Given the description of an element on the screen output the (x, y) to click on. 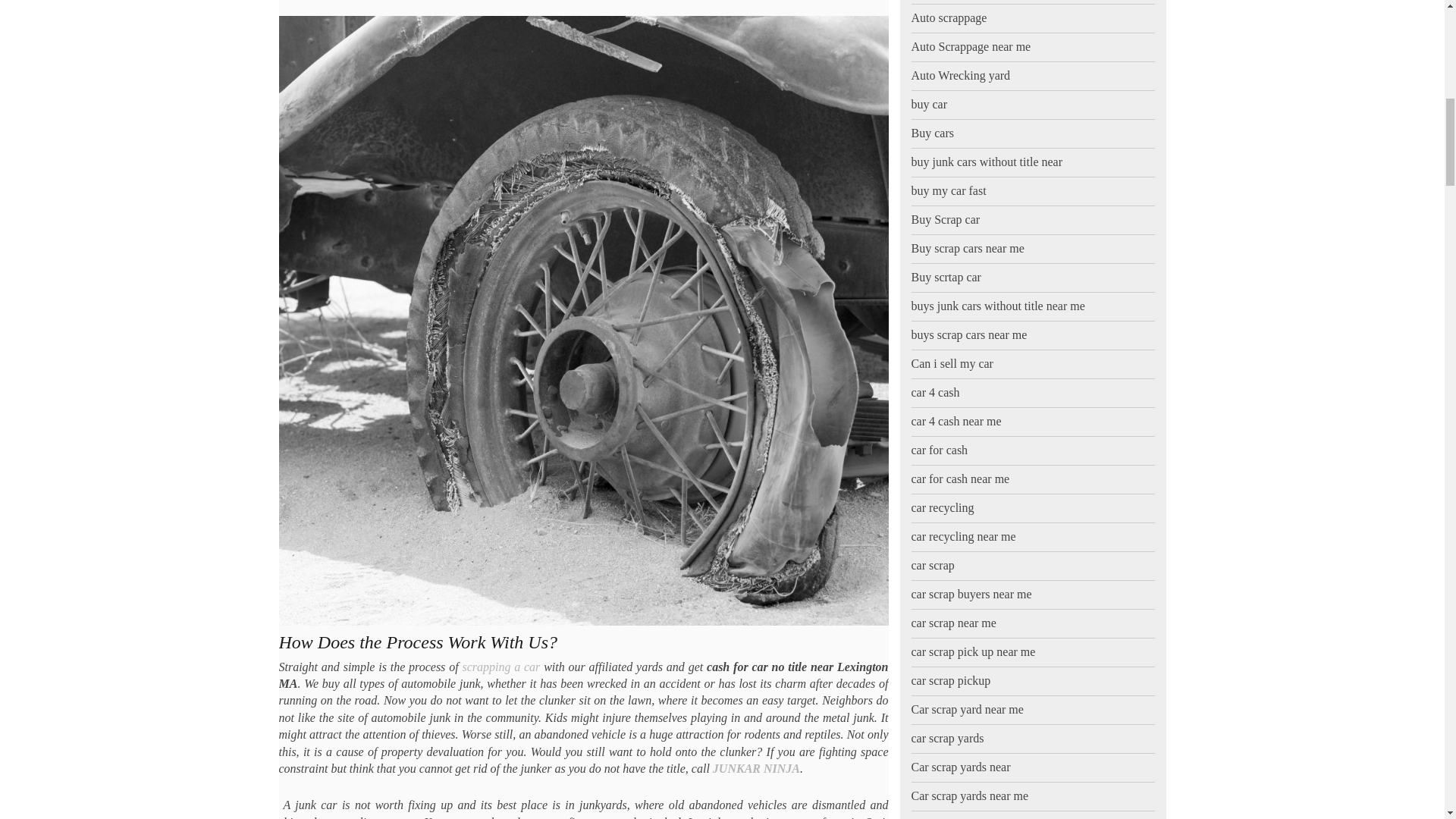
scrapping a car (500, 666)
Auto scrappage (949, 17)
JUNKAR NINJA (756, 768)
